Given the description of an element on the screen output the (x, y) to click on. 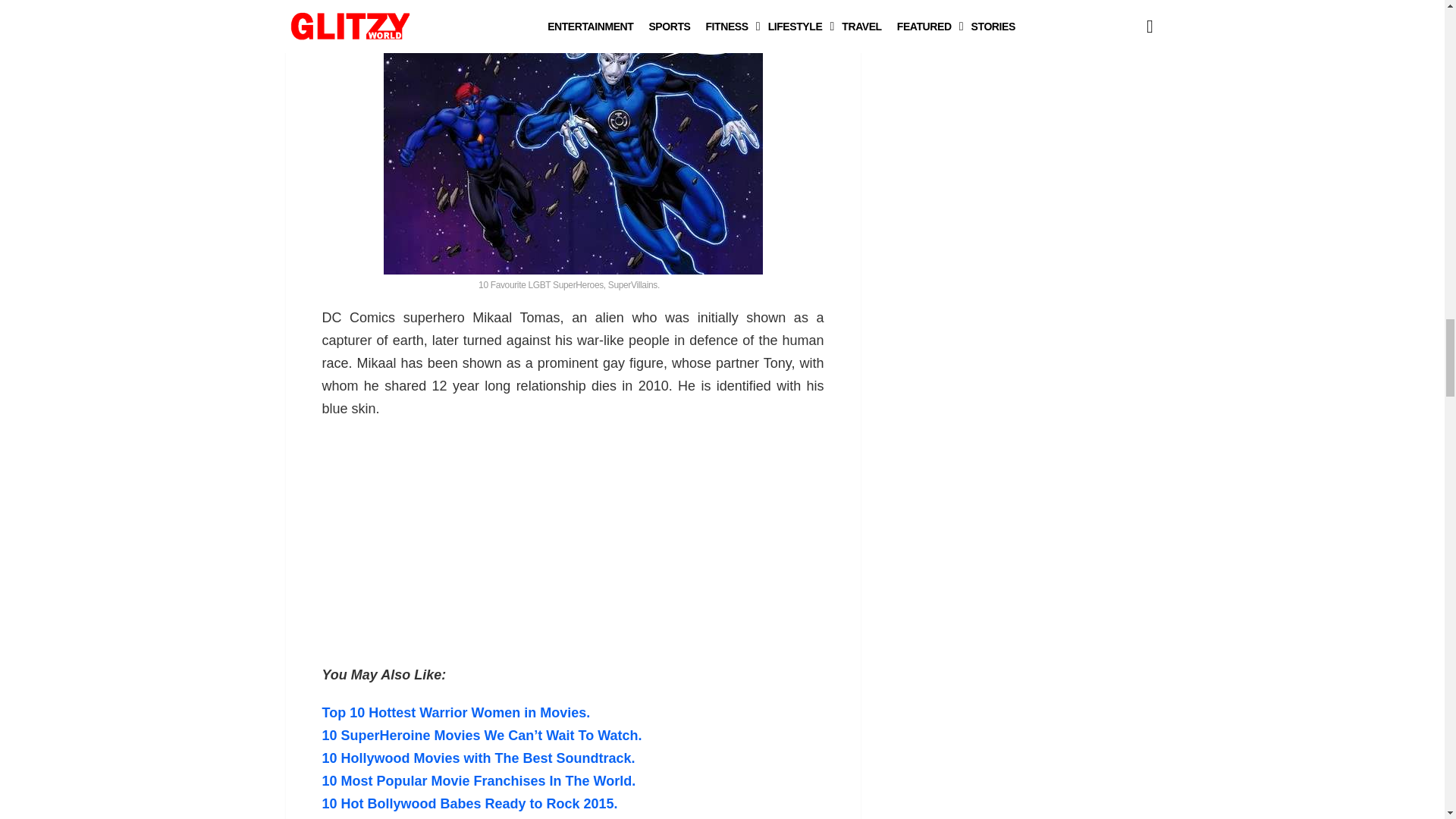
10 Most Popular Movie Franchises In The World. (477, 780)
Top 10 Hottest Warrior Women in Movies. (455, 712)
10 Hot Bollywood Babes Ready to Rock 2015 (469, 803)
10 Hollywood Movies with The Best Soundtrack. (477, 758)
10 Hot Bollywood Babes Ready to Rock 2015. (469, 803)
10 Most Popular Movie Franchises In The World (477, 780)
10 Hollywood Movies with The Best Soundtrack (477, 758)
